Given the description of an element on the screen output the (x, y) to click on. 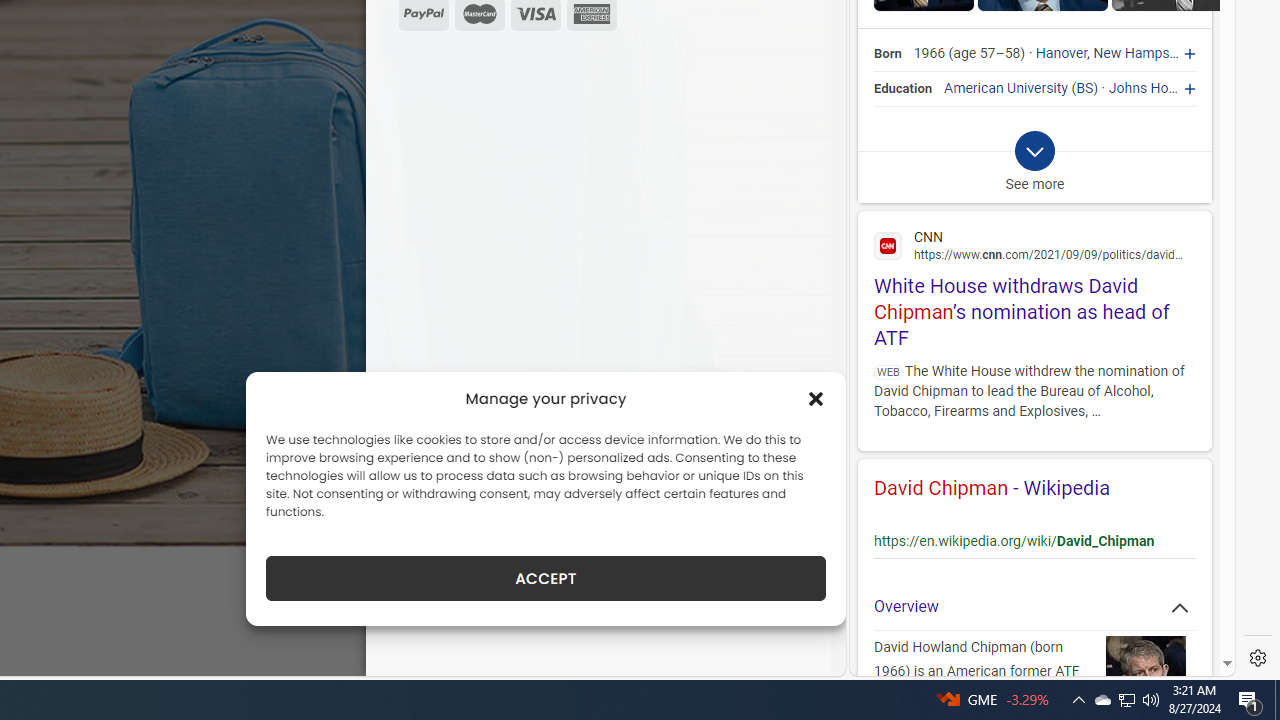
Class: cmplz-close (815, 398)
American University (1005, 88)
BS (1085, 88)
